Given the description of an element on the screen output the (x, y) to click on. 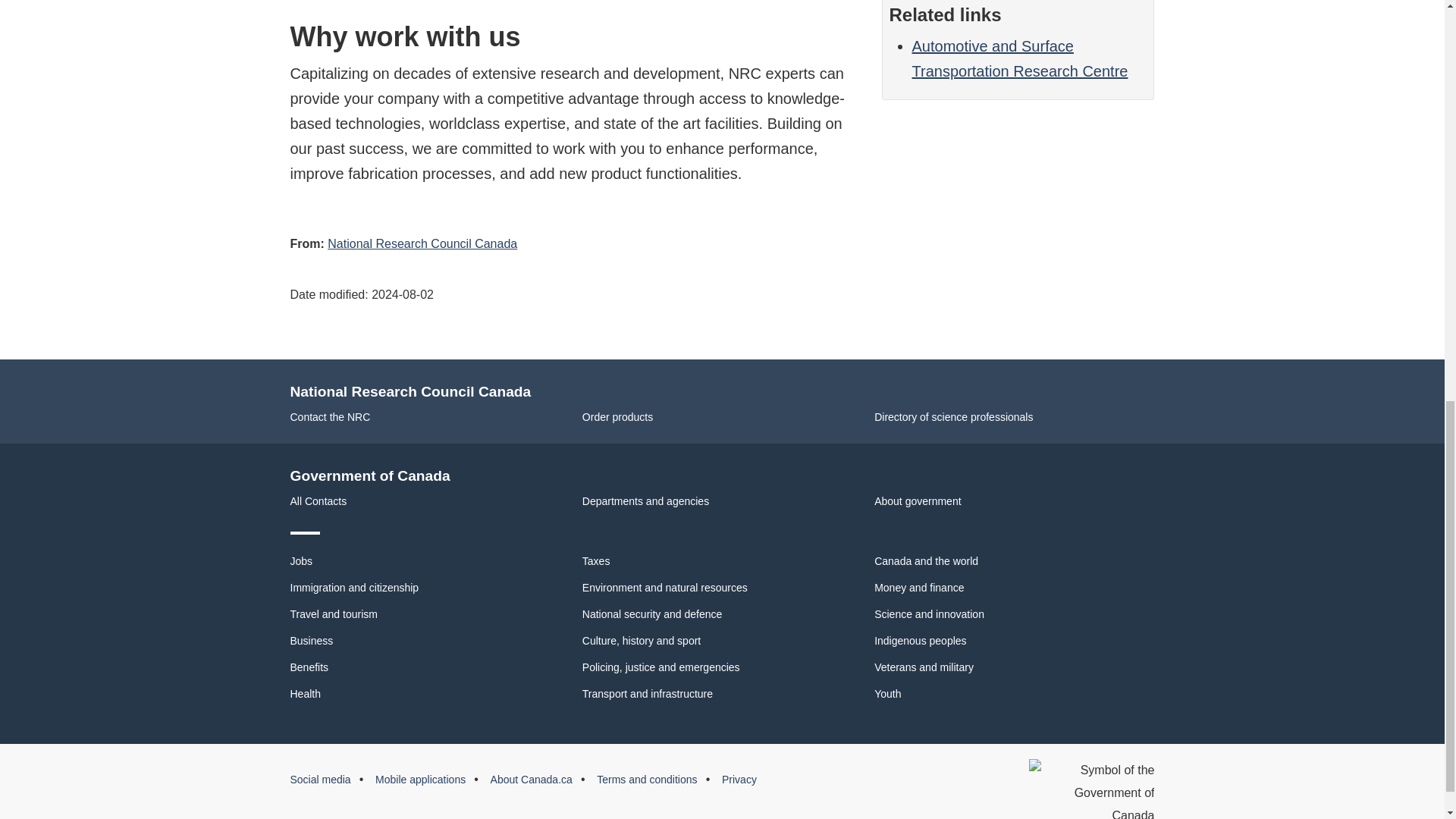
Order products (617, 417)
National Research Council Canada (421, 243)
All Contacts (317, 500)
Contact the NRC (329, 417)
Directory of science professionals (953, 417)
Automotive and Surface Transportation Research Centre (1018, 58)
